Given the description of an element on the screen output the (x, y) to click on. 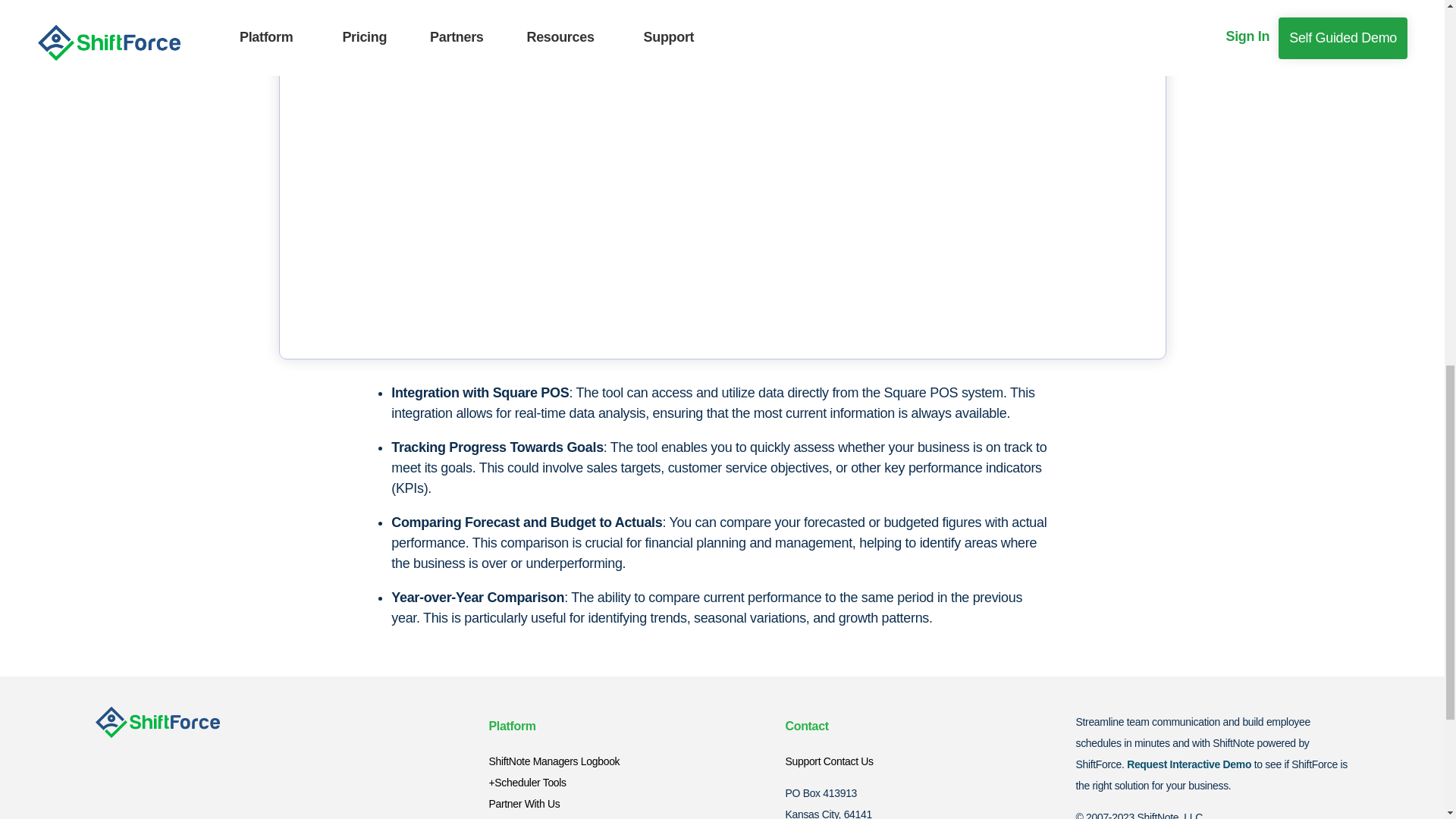
ShiftNote Managers Logbook (553, 761)
